Given the description of an element on the screen output the (x, y) to click on. 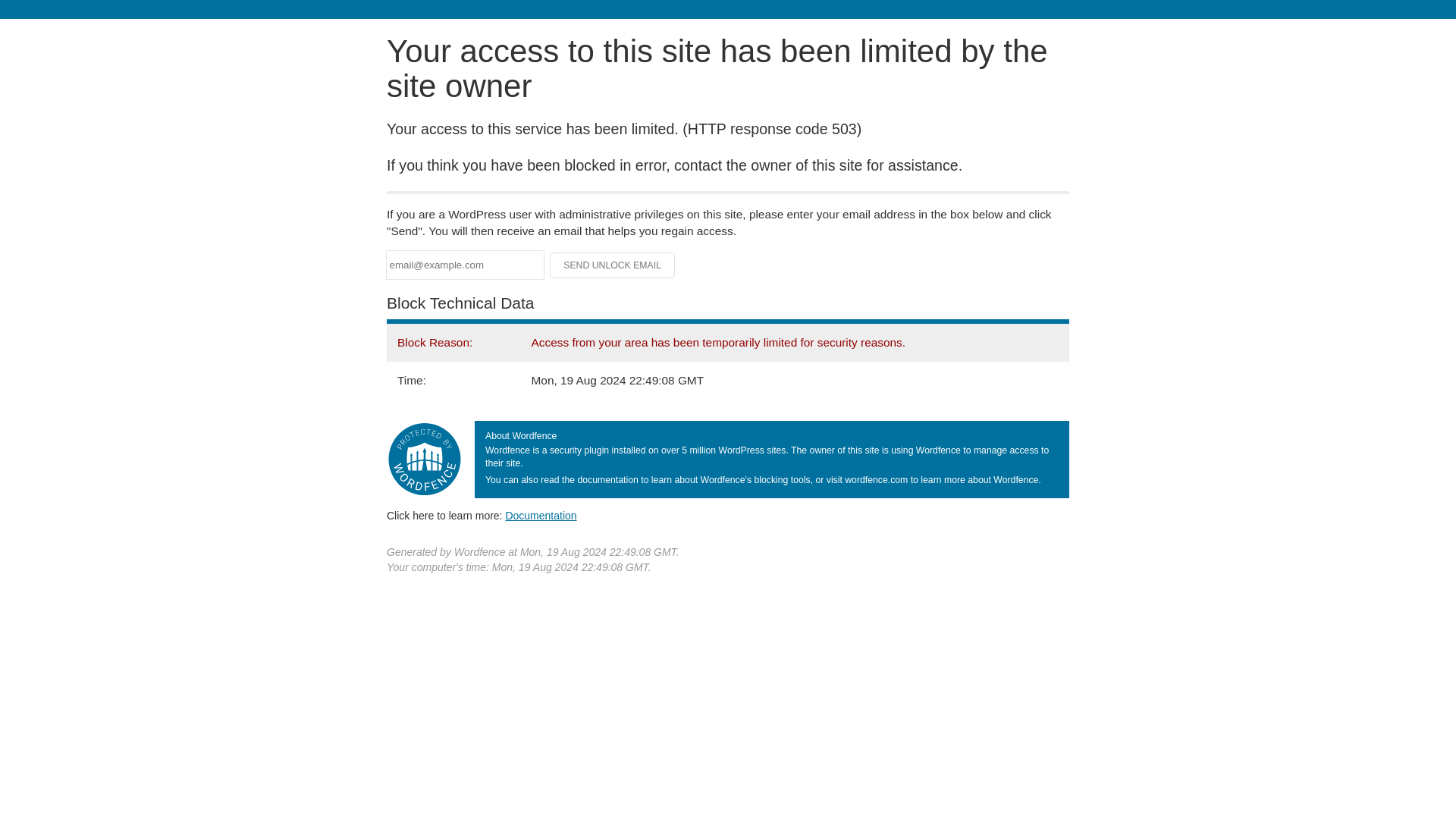
Send Unlock Email (612, 265)
Documentation (540, 515)
Send Unlock Email (612, 265)
